Given the description of an element on the screen output the (x, y) to click on. 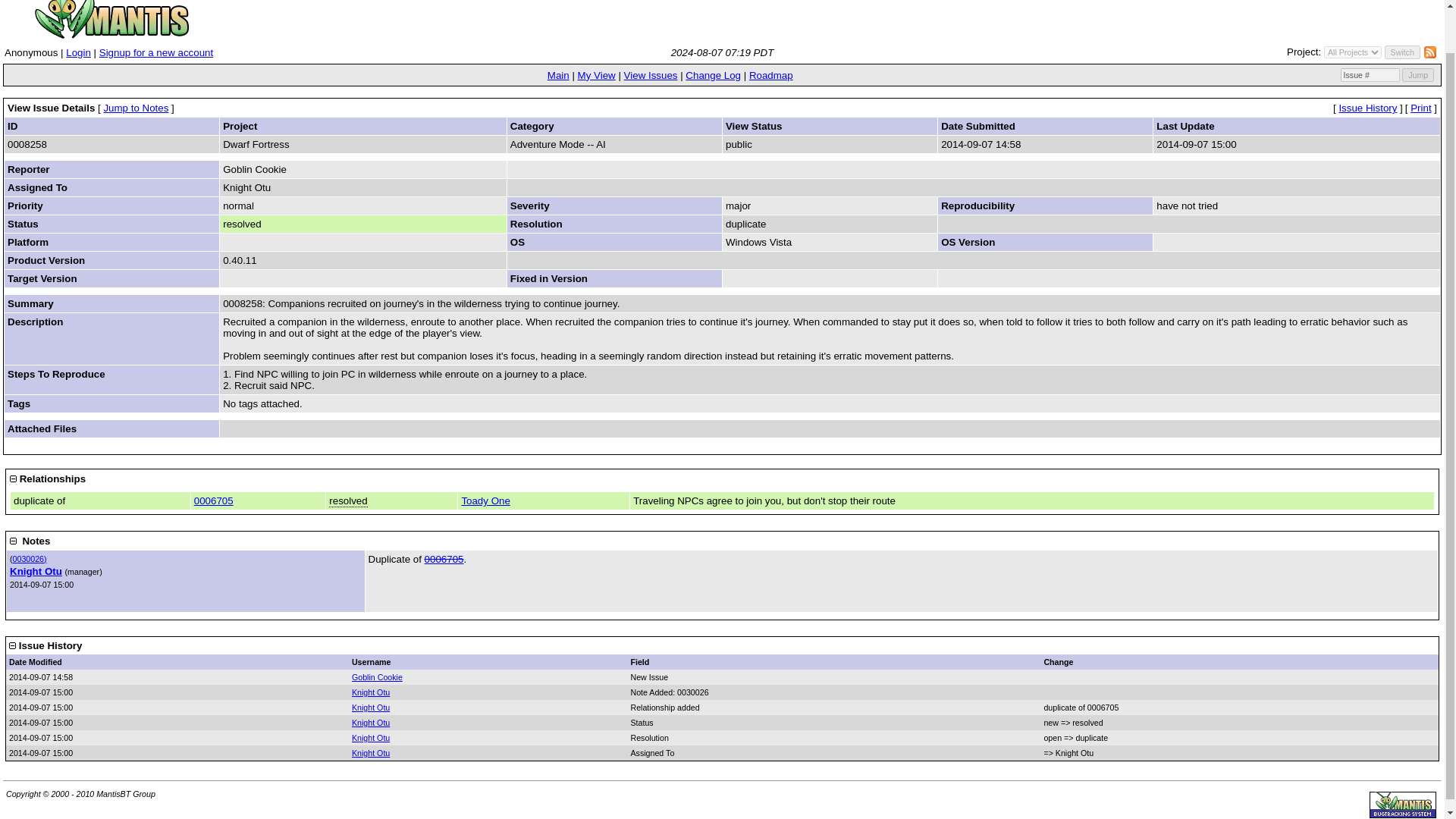
Goblin Cookie (377, 676)
Jump (1418, 74)
Knight Otu (371, 722)
Change Log (713, 75)
Signup for a new account (155, 52)
Print (1420, 107)
0006705 (212, 500)
Main (558, 75)
Knight Otu (371, 706)
Direct link to note (29, 558)
Jump to Notes (135, 107)
Toady One (485, 500)
Issue History (1367, 107)
Switch (1402, 51)
Knight Otu (371, 737)
